Given the description of an element on the screen output the (x, y) to click on. 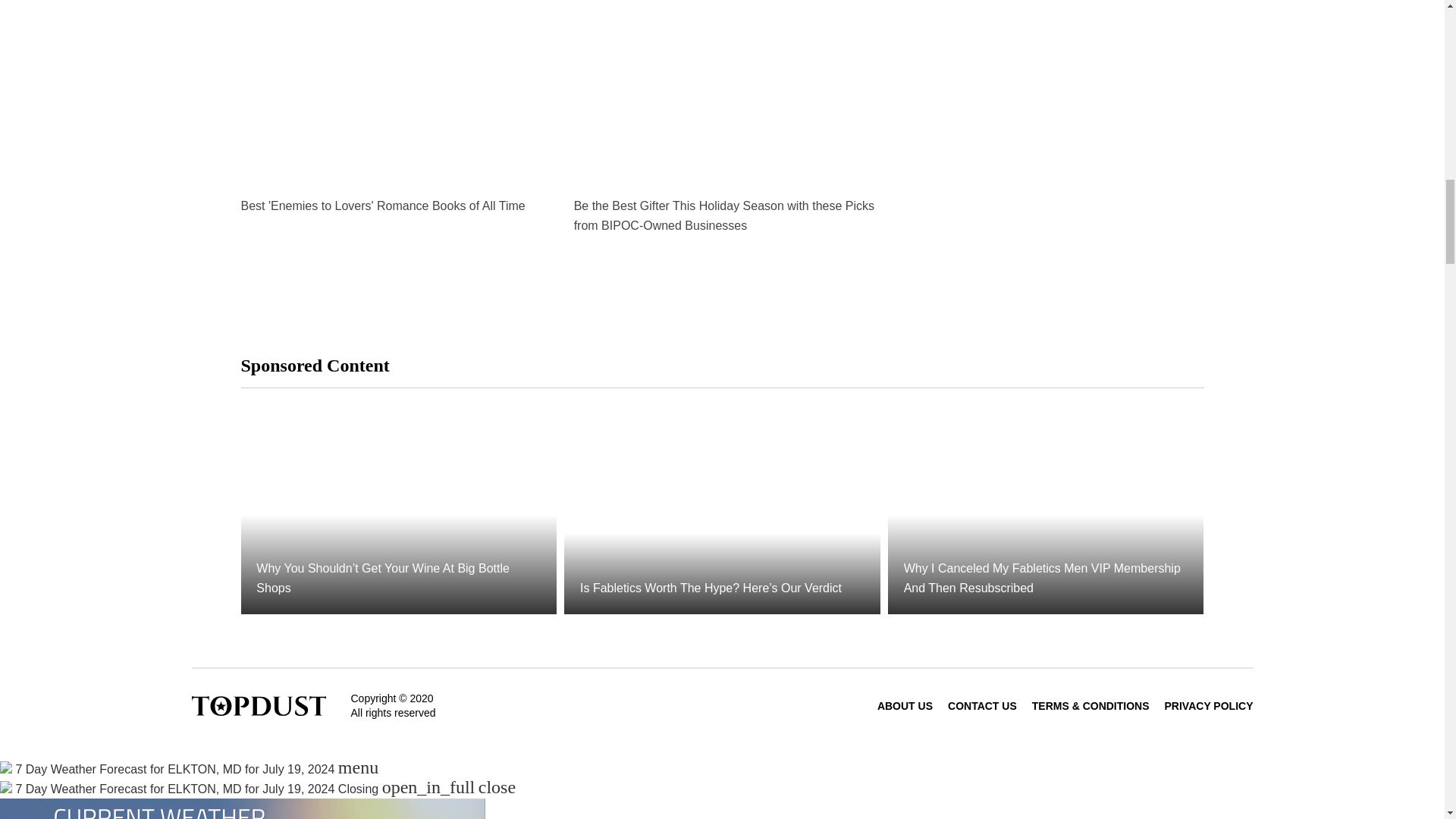
Logo (258, 705)
